Given the description of an element on the screen output the (x, y) to click on. 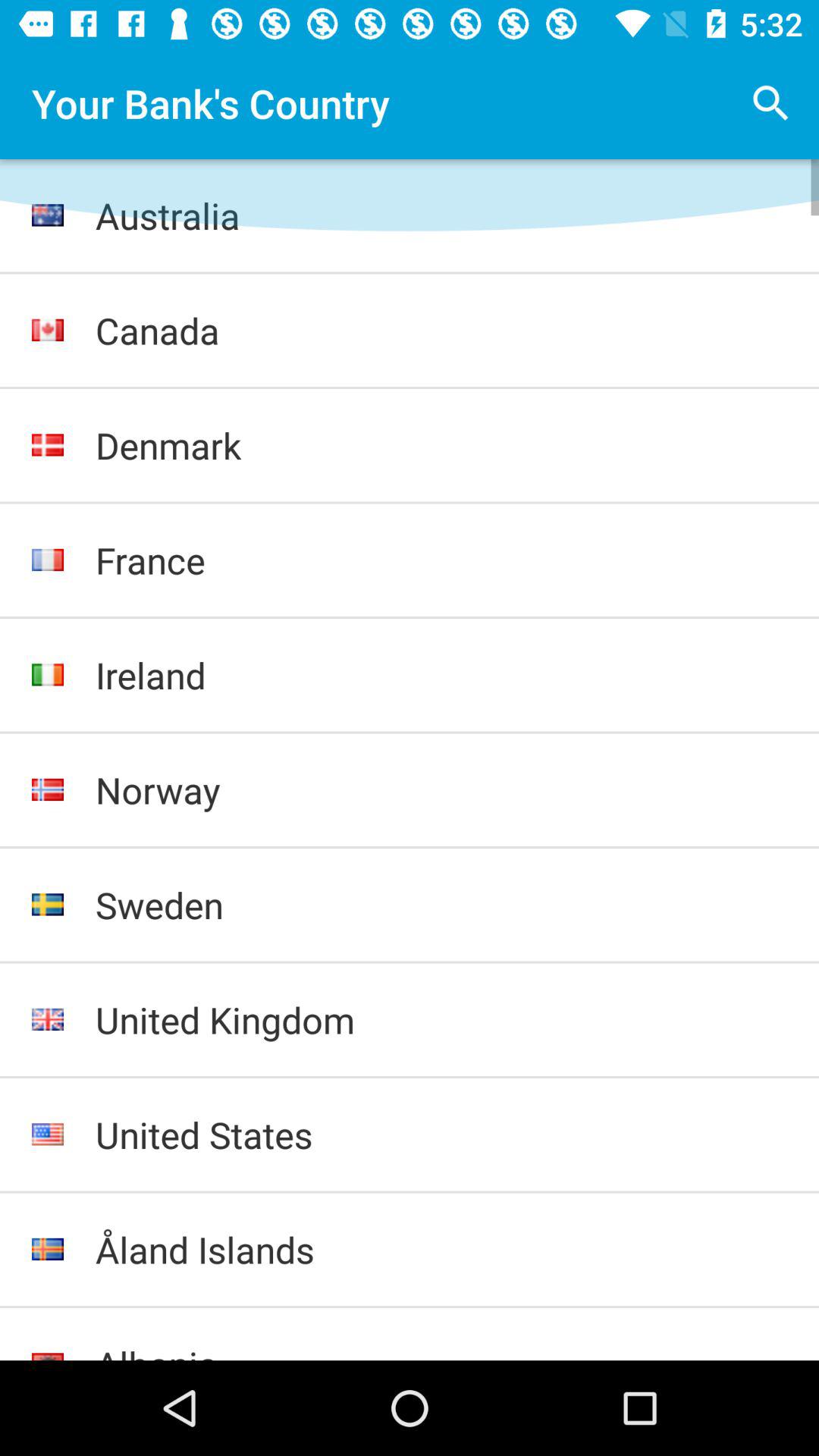
jump to the albania icon (441, 1349)
